Given the description of an element on the screen output the (x, y) to click on. 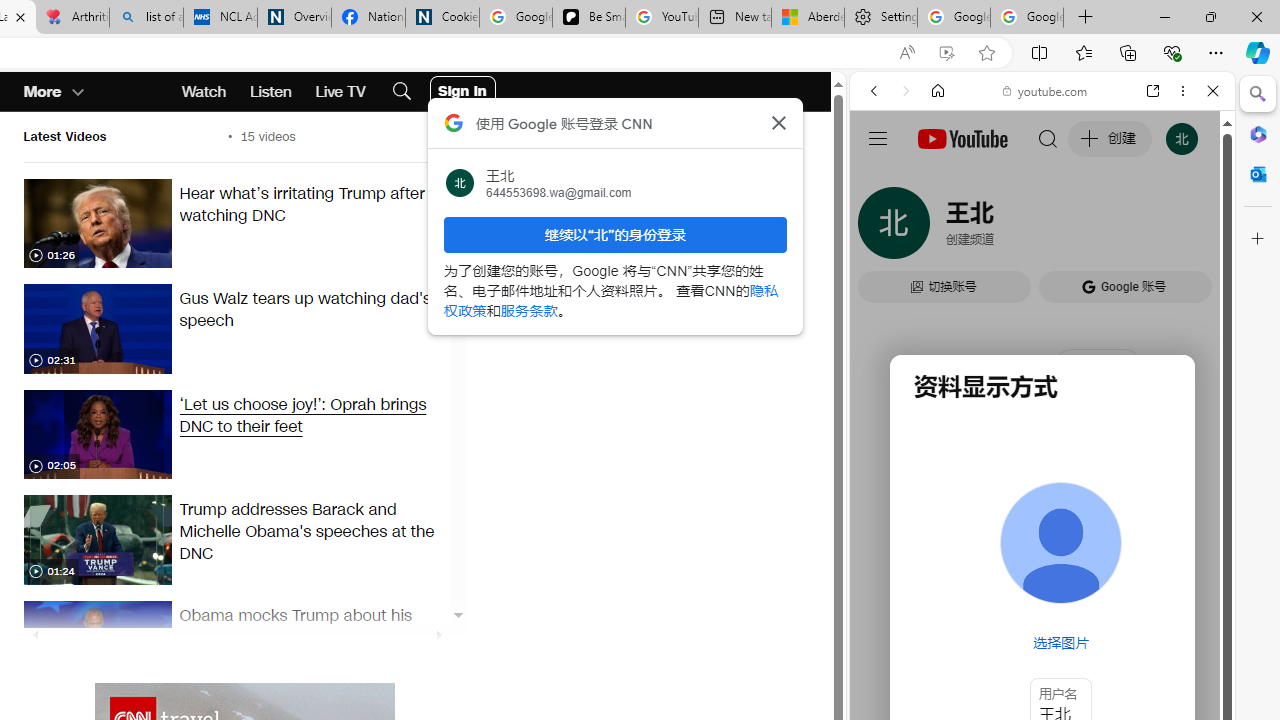
Trailer #2 [HD] (1042, 592)
Listen (270, 92)
still_20892817_44674.66_still.jpg (97, 434)
Enhance video (946, 53)
Search Icon (401, 92)
User Account Log In Button (462, 92)
